Given the description of an element on the screen output the (x, y) to click on. 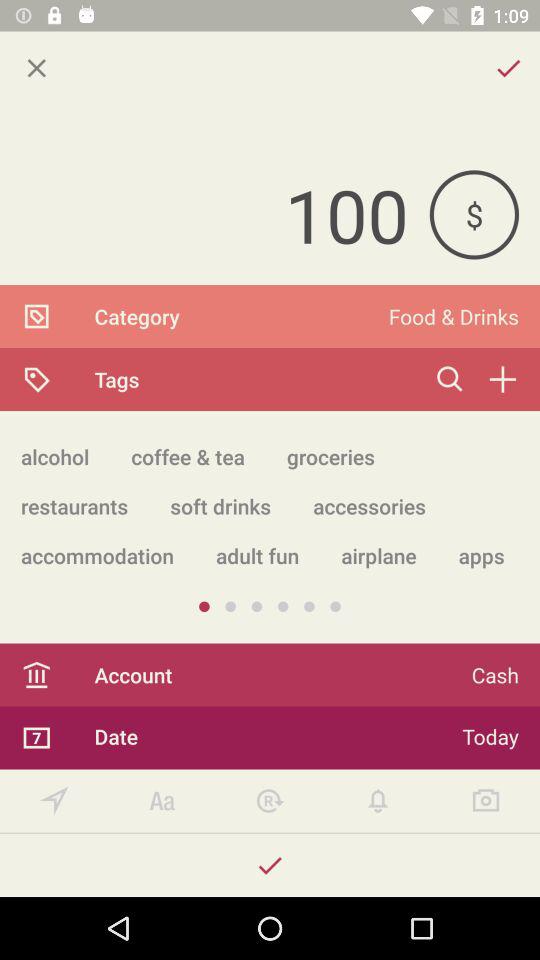
exit the page (36, 68)
